Given the description of an element on the screen output the (x, y) to click on. 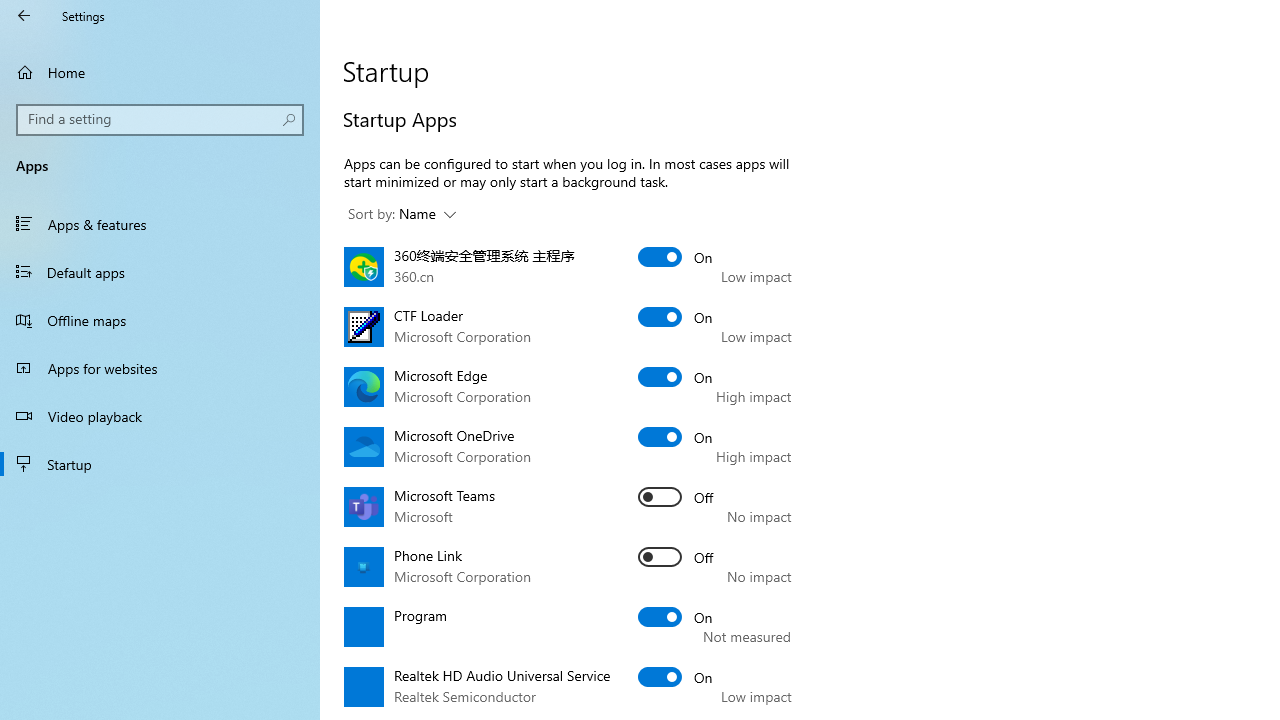
Startup (160, 463)
CTF Loader (675, 316)
Sort by: Name (401, 214)
